Given the description of an element on the screen output the (x, y) to click on. 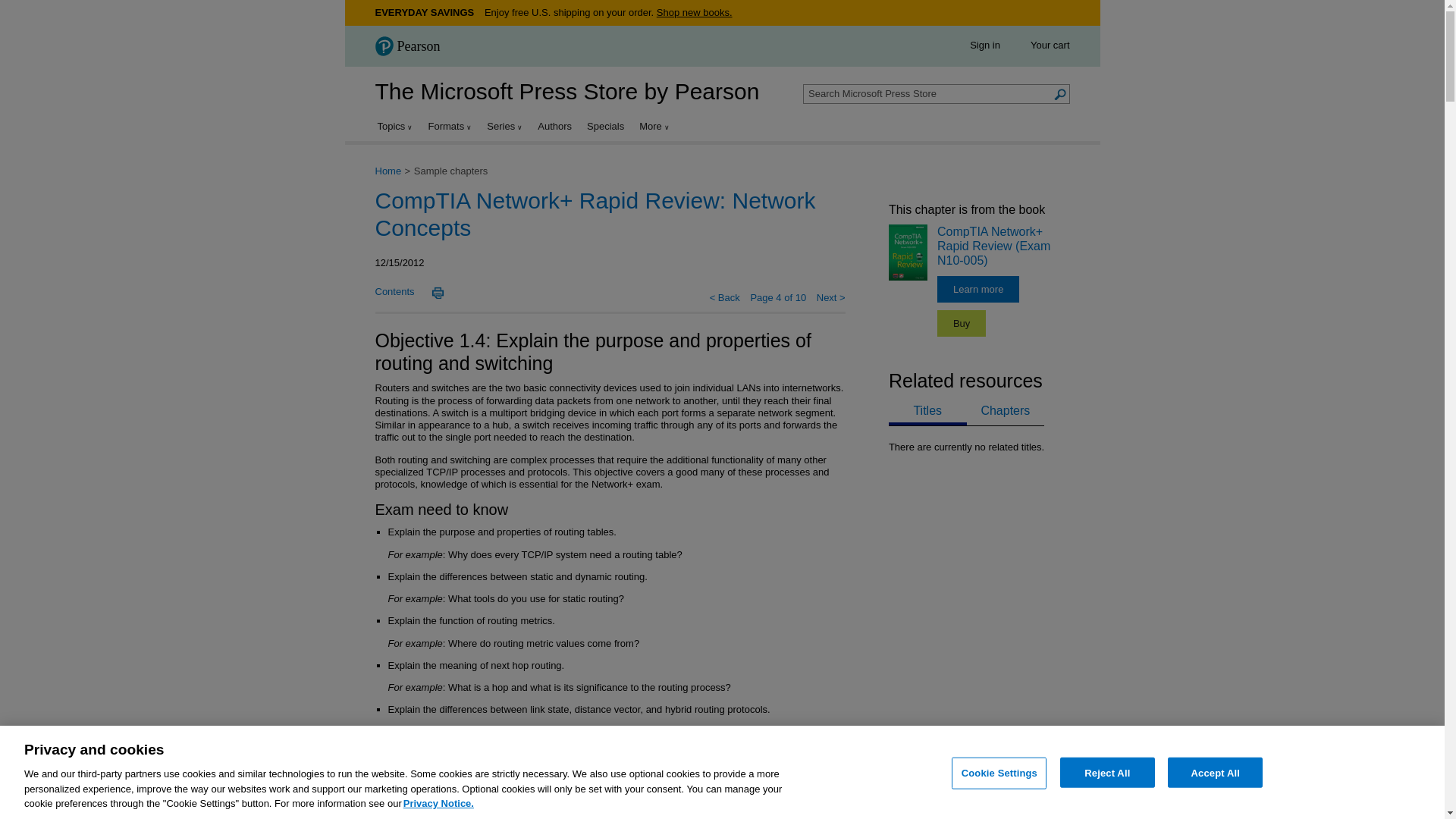
Your cart (1050, 44)
Pearson (411, 47)
Shop new books. (694, 12)
Print (437, 293)
Pearson (406, 46)
The Microsoft Press Store by Pearson (566, 91)
Specials (605, 126)
Sign in (984, 44)
Authors (554, 126)
